Given the description of an element on the screen output the (x, y) to click on. 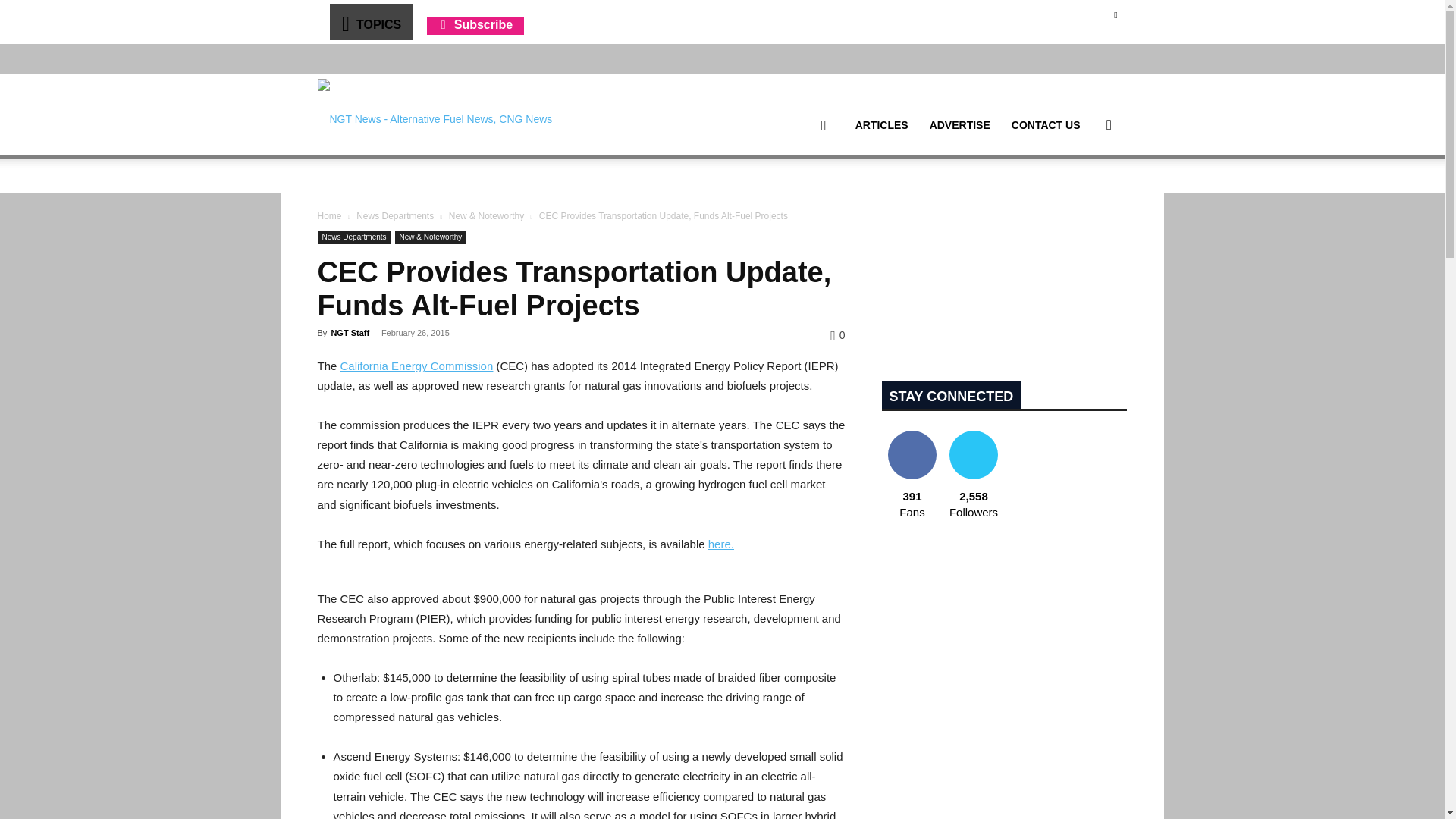
Twitter (1114, 14)
TOPICS (370, 22)
Alternative Fuel News, CNG News (434, 114)
ARTICLES (881, 124)
Search (1085, 197)
NGT News (434, 114)
Subscribe (475, 24)
